Given the description of an element on the screen output the (x, y) to click on. 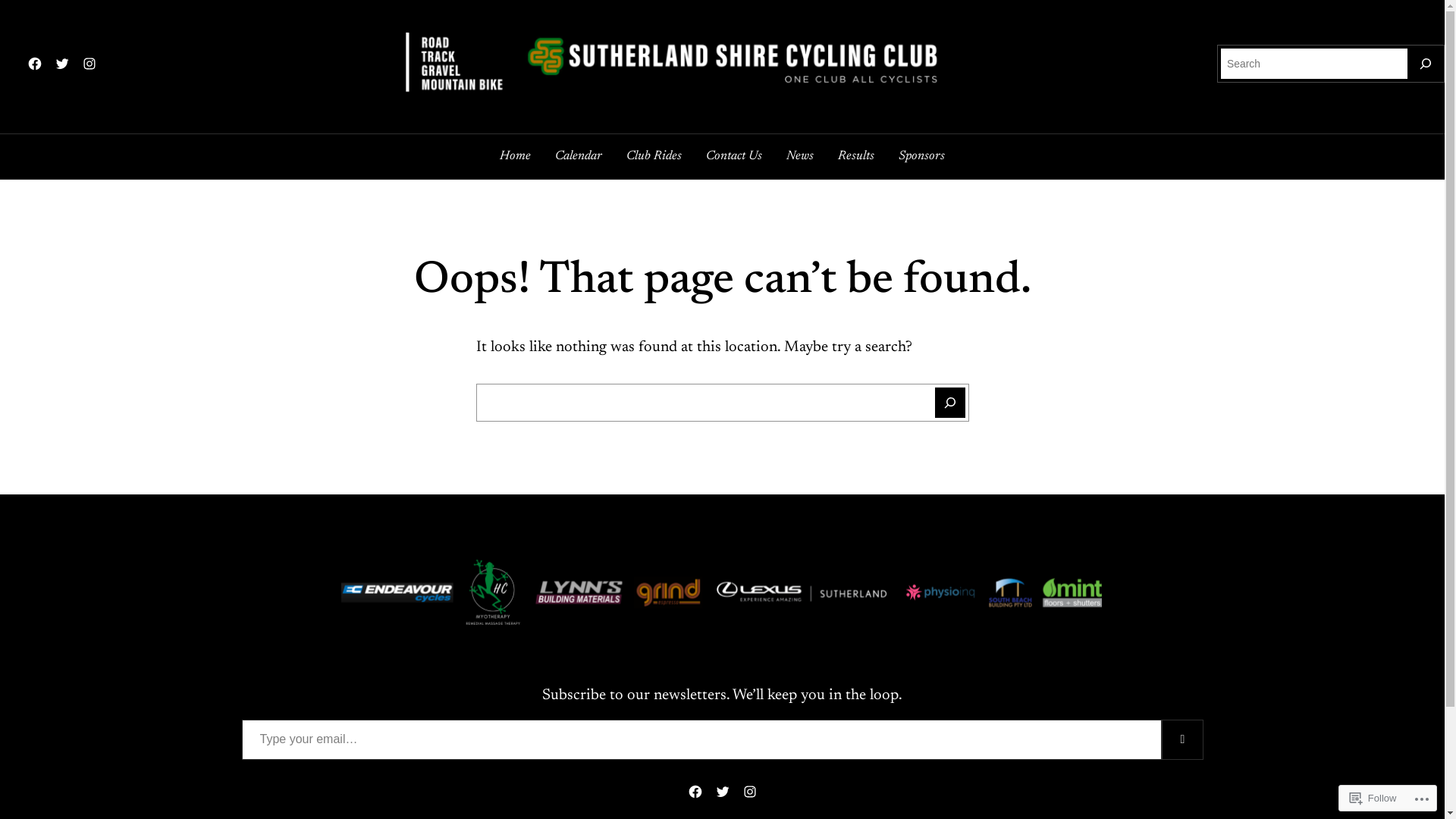
News Element type: text (799, 156)
Follow Element type: text (1372, 797)
Home Element type: text (514, 156)
Sponsors Element type: text (921, 156)
Contact Us Element type: text (734, 156)
Results Element type: text (855, 156)
Club Rides Element type: text (653, 156)
Calendar Element type: text (578, 156)
